Given the description of an element on the screen output the (x, y) to click on. 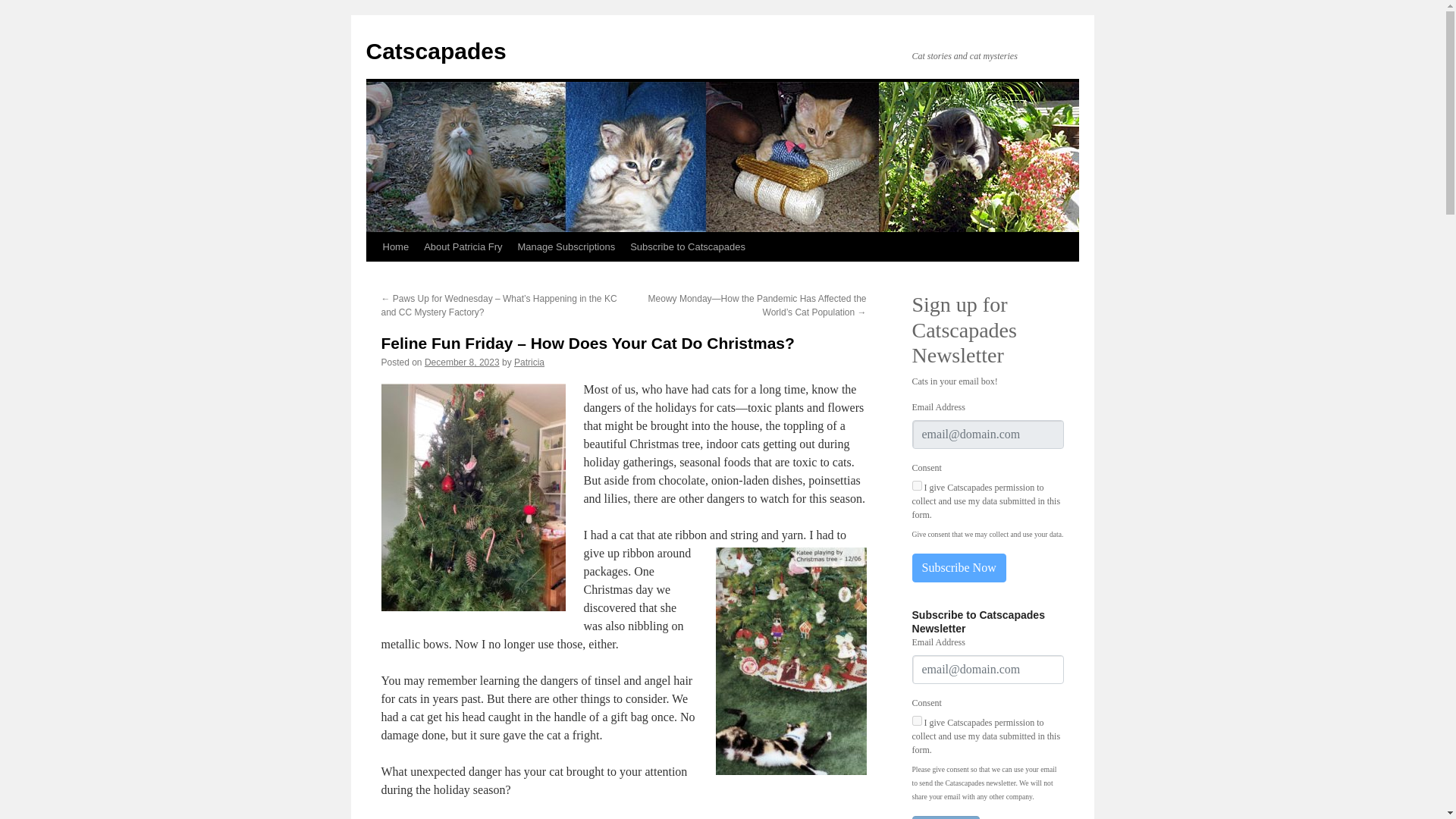
Patricia (528, 362)
1 (916, 720)
Subscribe to Catscapades (687, 246)
Manage Subscriptions (567, 246)
December 8, 2023 (462, 362)
Home (395, 246)
Subscribe Now (958, 567)
3:53 am (462, 362)
Subscribe (944, 817)
1 (916, 485)
